Given the description of an element on the screen output the (x, y) to click on. 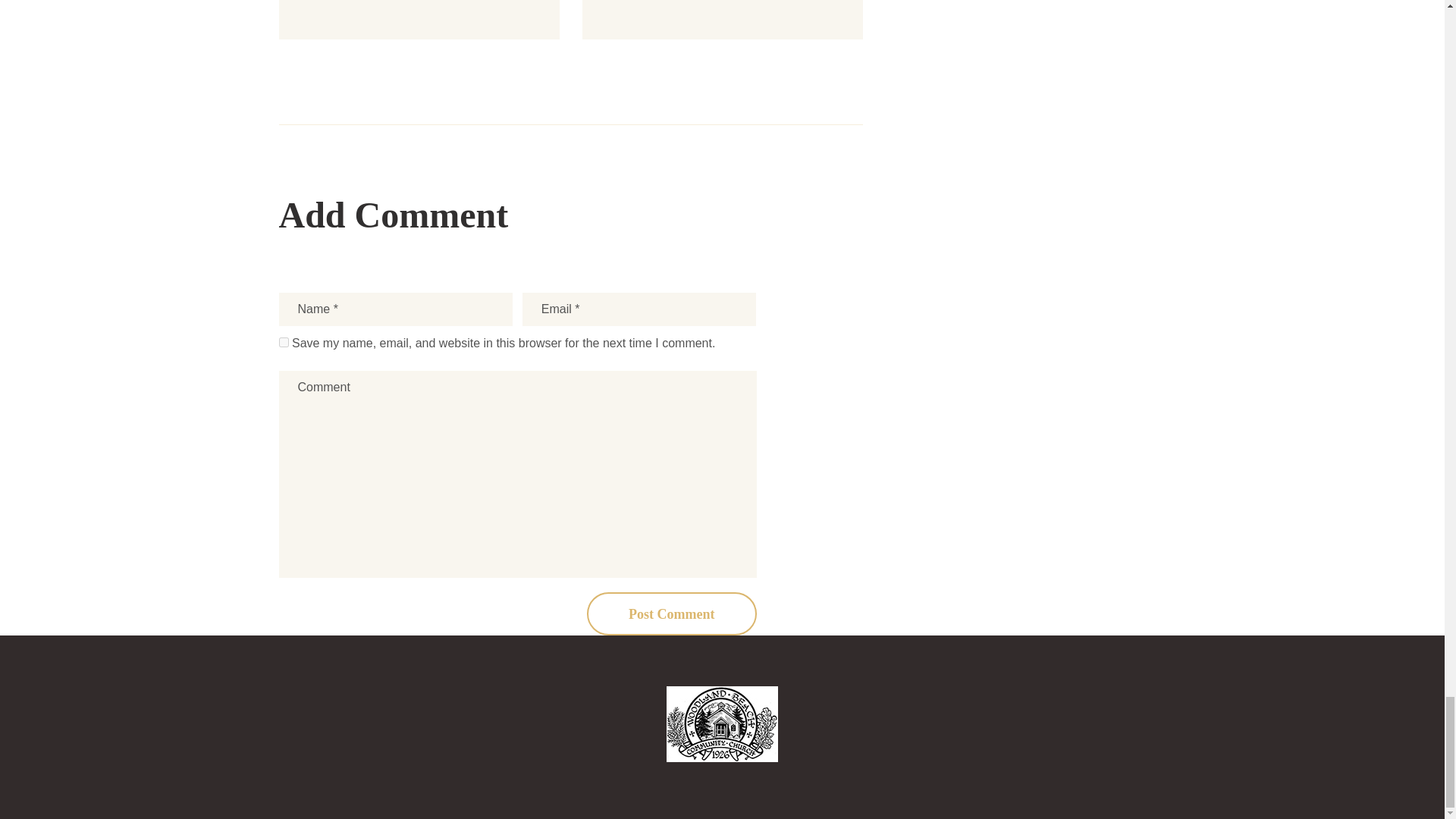
Post Comment (671, 613)
Post Comment (671, 613)
yes (283, 342)
